Given the description of an element on the screen output the (x, y) to click on. 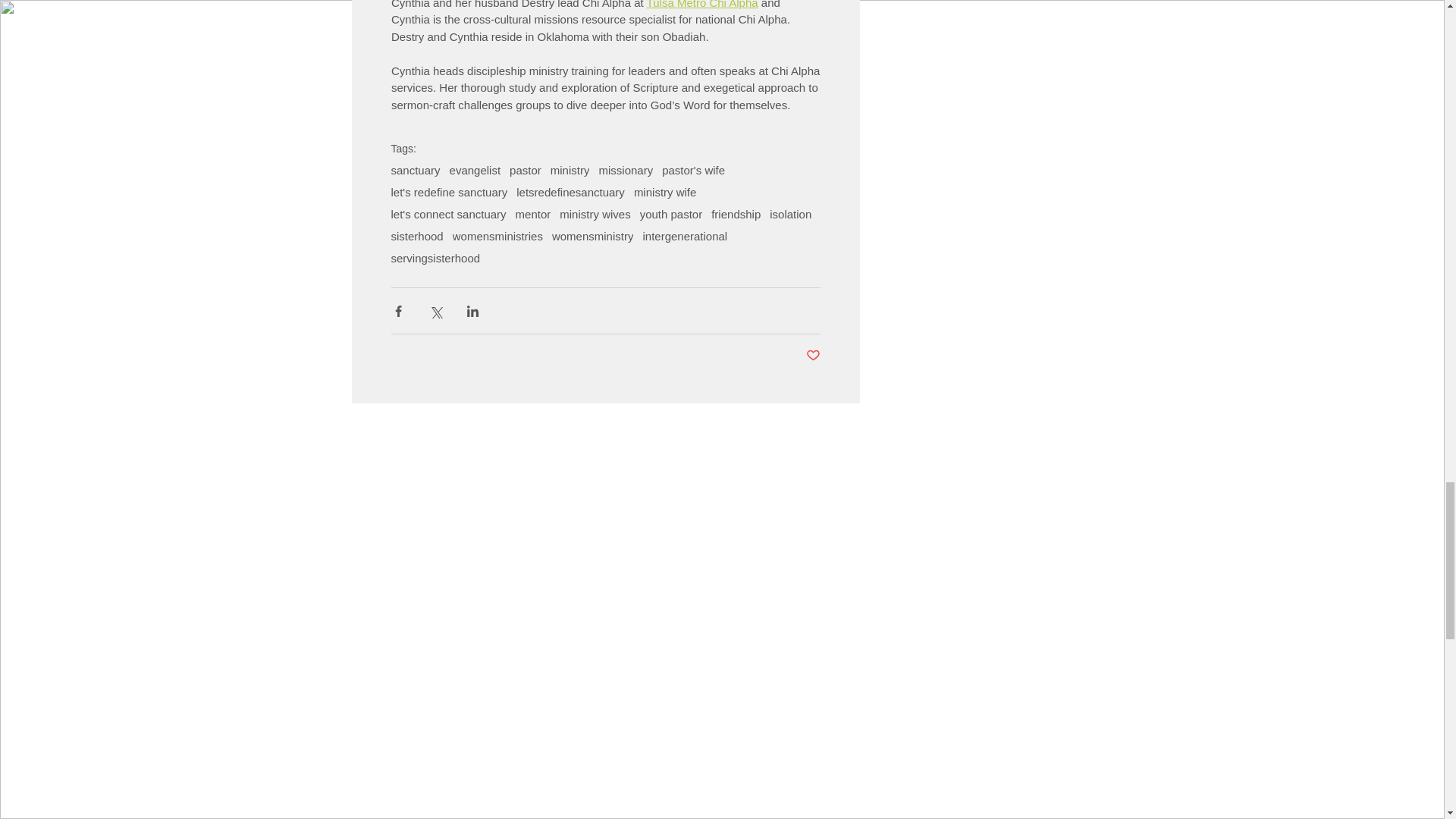
womensministries (497, 236)
evangelist (474, 169)
Post not marked as liked (812, 355)
Tulsa Metro Chi Alpha (701, 4)
ministry wives (594, 214)
ministry (569, 169)
sisterhood (417, 236)
sanctuary (416, 169)
pastor's wife (693, 169)
pastor (525, 169)
friendship (735, 214)
let's redefine sanctuary (449, 192)
ministry wife (665, 192)
womensministry (592, 236)
isolation (790, 214)
